Given the description of an element on the screen output the (x, y) to click on. 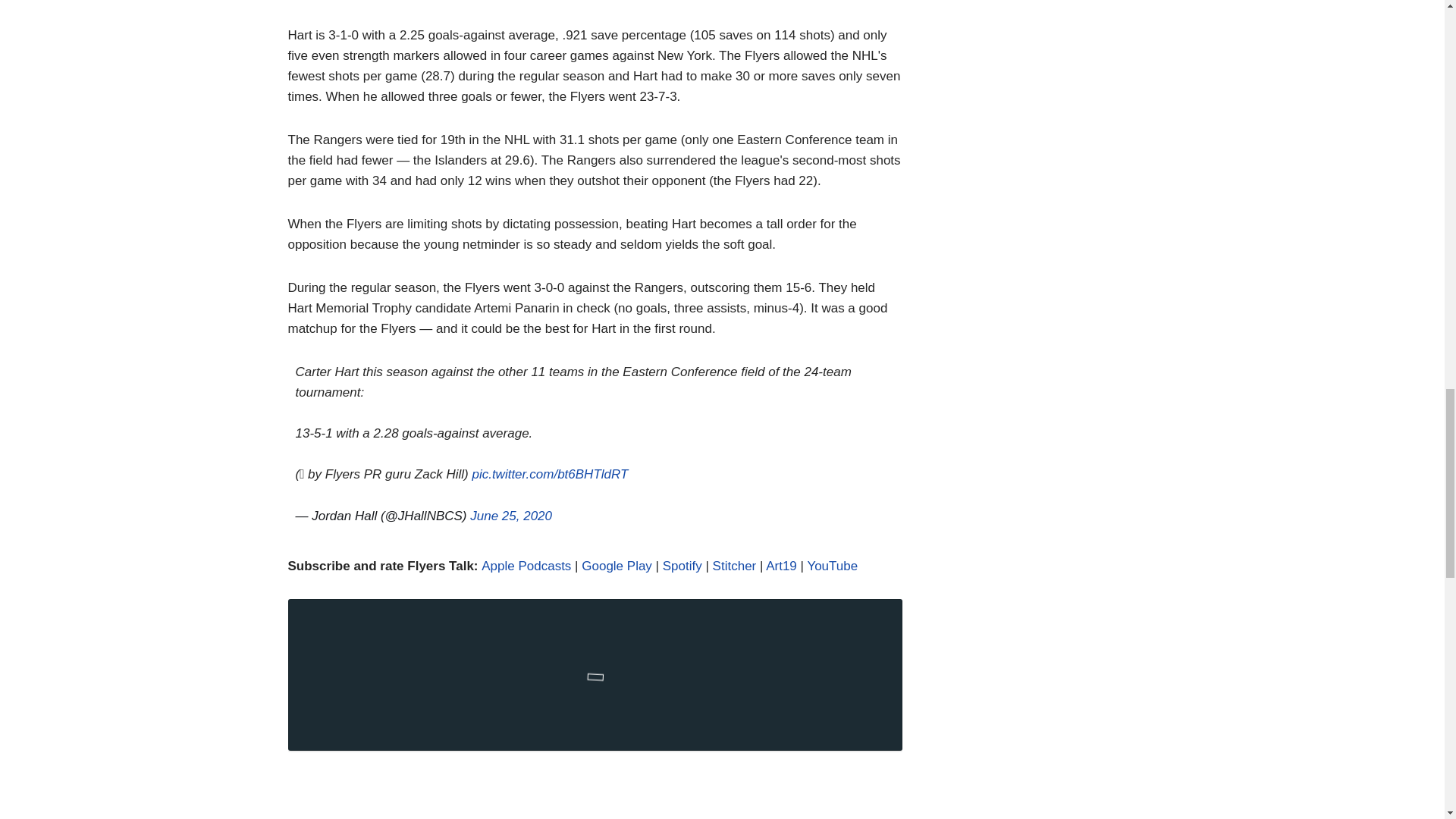
YouTube (831, 565)
Stitcher (735, 565)
June 25, 2020 (510, 515)
Art19 (780, 565)
Apple Podcasts (525, 565)
Google Play (616, 565)
Spotify (681, 565)
